Given the description of an element on the screen output the (x, y) to click on. 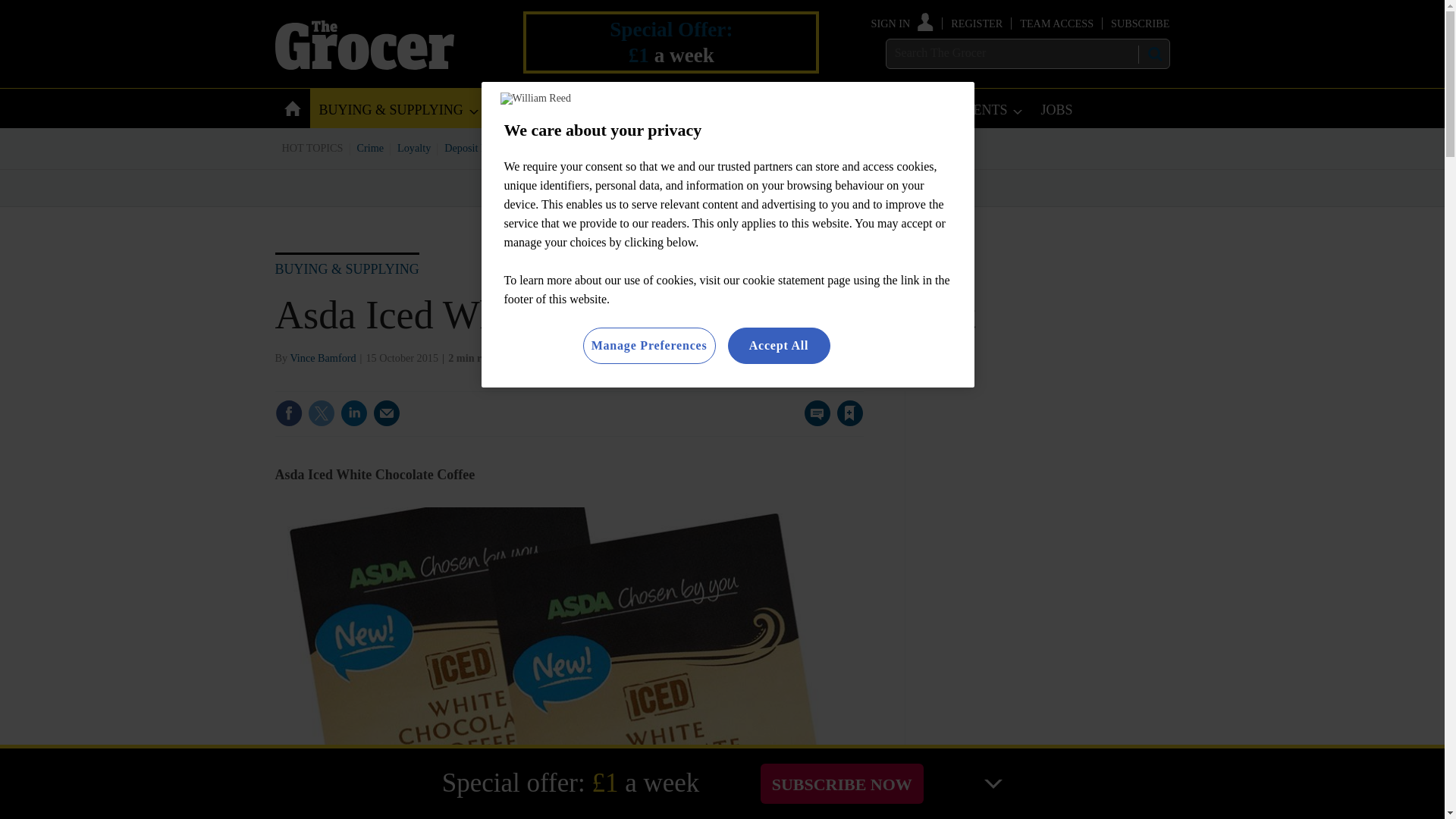
SUBSCRIBE NOW (841, 783)
SIGN IN (902, 23)
Share this on Facebook (288, 412)
KVI price tracker (602, 147)
Share this on Twitter (320, 412)
SEARCH (1153, 53)
Share this on Linked in (352, 412)
Loyalty (414, 147)
Vaping (774, 147)
REGISTER (976, 23)
Cost of Living Crisis (699, 147)
Site name (363, 65)
No comments (812, 421)
TEAM ACCESS (1056, 23)
Email this article (386, 412)
